Given the description of an element on the screen output the (x, y) to click on. 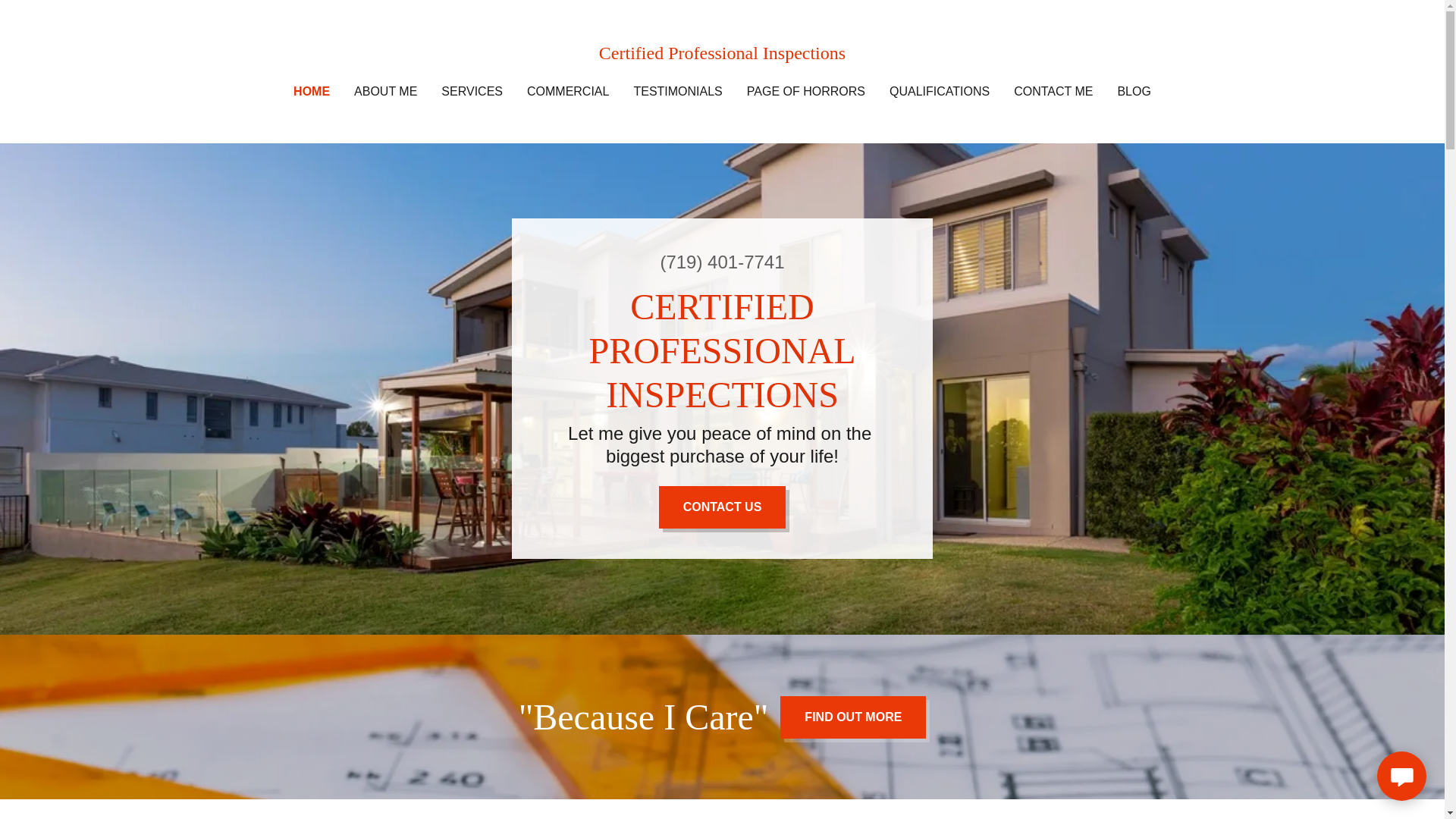
CONTACT US (722, 507)
SERVICES (471, 91)
CONTACT ME (1053, 91)
Certified Professional Inspections (721, 54)
BLOG (1133, 91)
PAGE OF HORRORS (805, 91)
FIND OUT MORE (853, 717)
QUALIFICATIONS (939, 91)
TESTIMONIALS (677, 91)
Certified Professional Inspections (721, 54)
COMMERCIAL (567, 91)
ABOUT ME (385, 91)
HOME (312, 91)
